Given the description of an element on the screen output the (x, y) to click on. 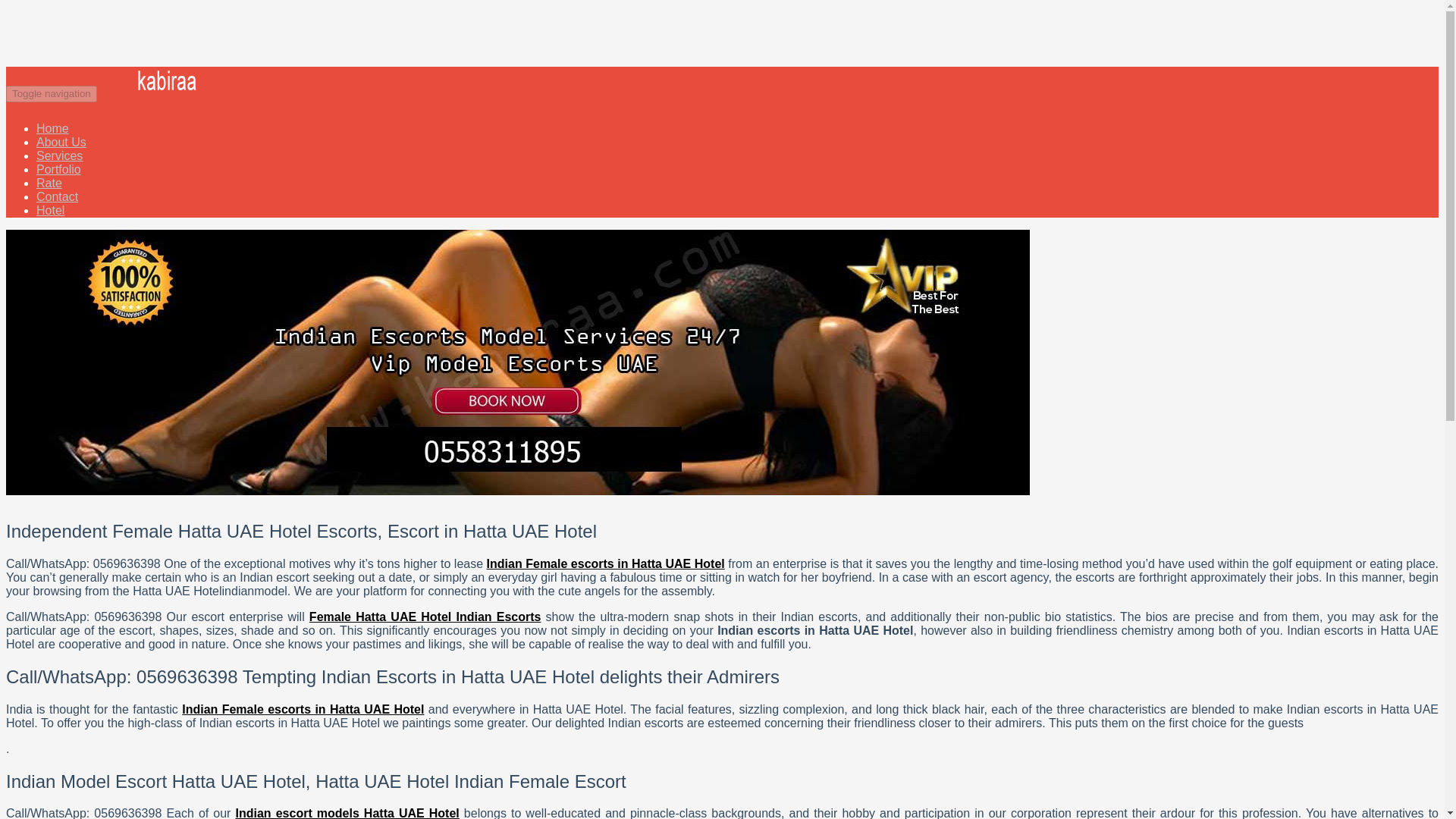
Portfolio (58, 169)
Female Hatta UAE Hotel Indian Escorts (424, 616)
Indian escort models Hatta UAE Hotel (347, 812)
Indian Female escorts in Hatta UAE Hotel (605, 563)
Indian Female escorts in Hatta UAE Hotel (302, 708)
Rate (49, 182)
Contact (57, 196)
Home (52, 128)
About Us (60, 141)
Hotel (50, 210)
